Given the description of an element on the screen output the (x, y) to click on. 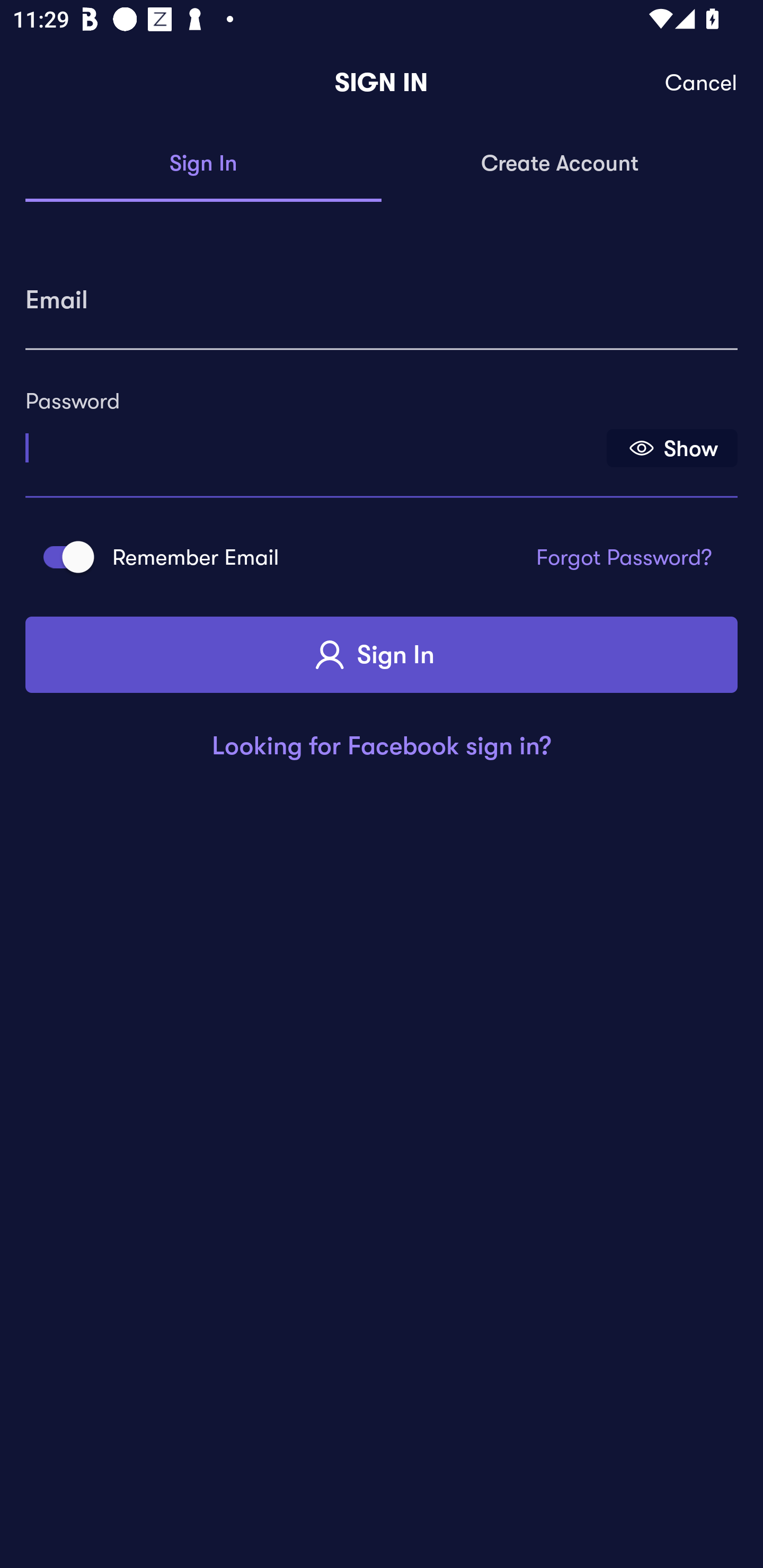
Cancel (701, 82)
Sign In (203, 164)
Create Account (559, 164)
Email (381, 293)
Password (314, 441)
Show Password Show (671, 447)
Remember Email (62, 557)
Sign In (381, 654)
